Given the description of an element on the screen output the (x, y) to click on. 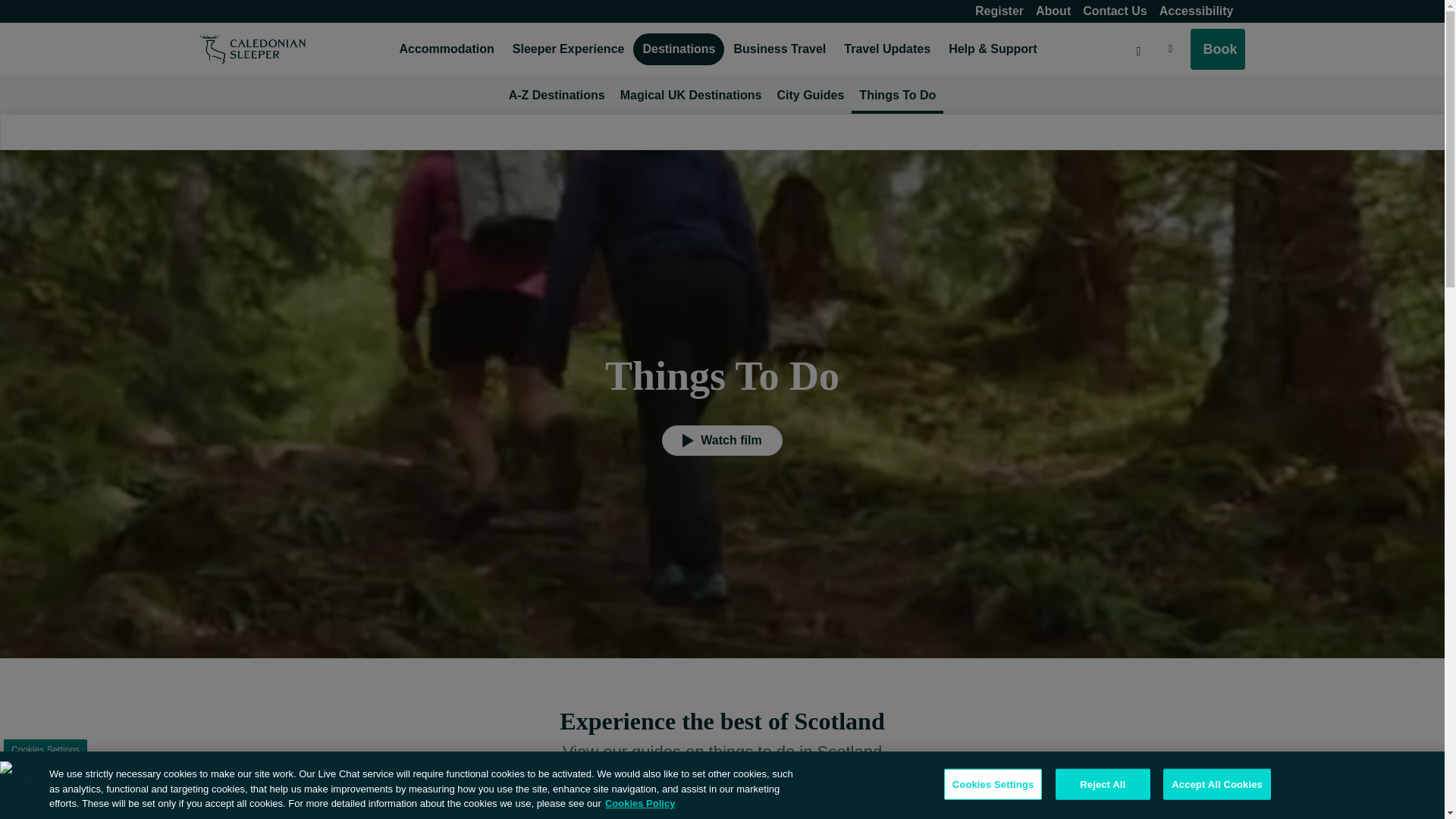
Contact Us (1115, 11)
Business Travel (778, 49)
Accommodation (446, 49)
Accessibility (1196, 11)
Company Logo (24, 785)
About (1053, 11)
Cookies Settings (45, 748)
Destinations (678, 49)
Register (999, 11)
Sleeper Experience (568, 49)
